Given the description of an element on the screen output the (x, y) to click on. 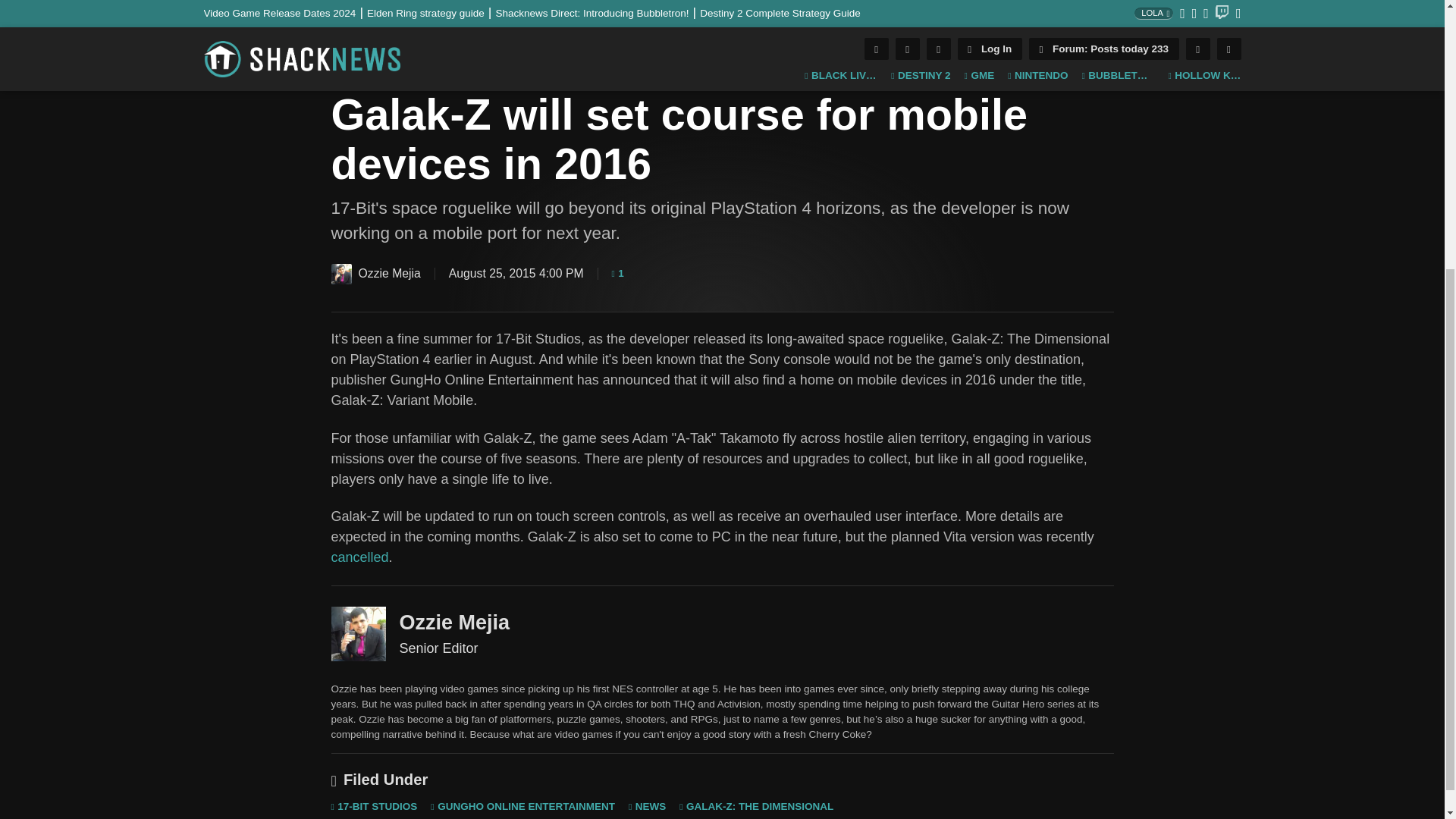
Ozzie Mejia (340, 273)
Senior Editor (357, 633)
Galak-Z will set course for mobile devices in 2016 (721, 19)
NEWS (349, 65)
